Given the description of an element on the screen output the (x, y) to click on. 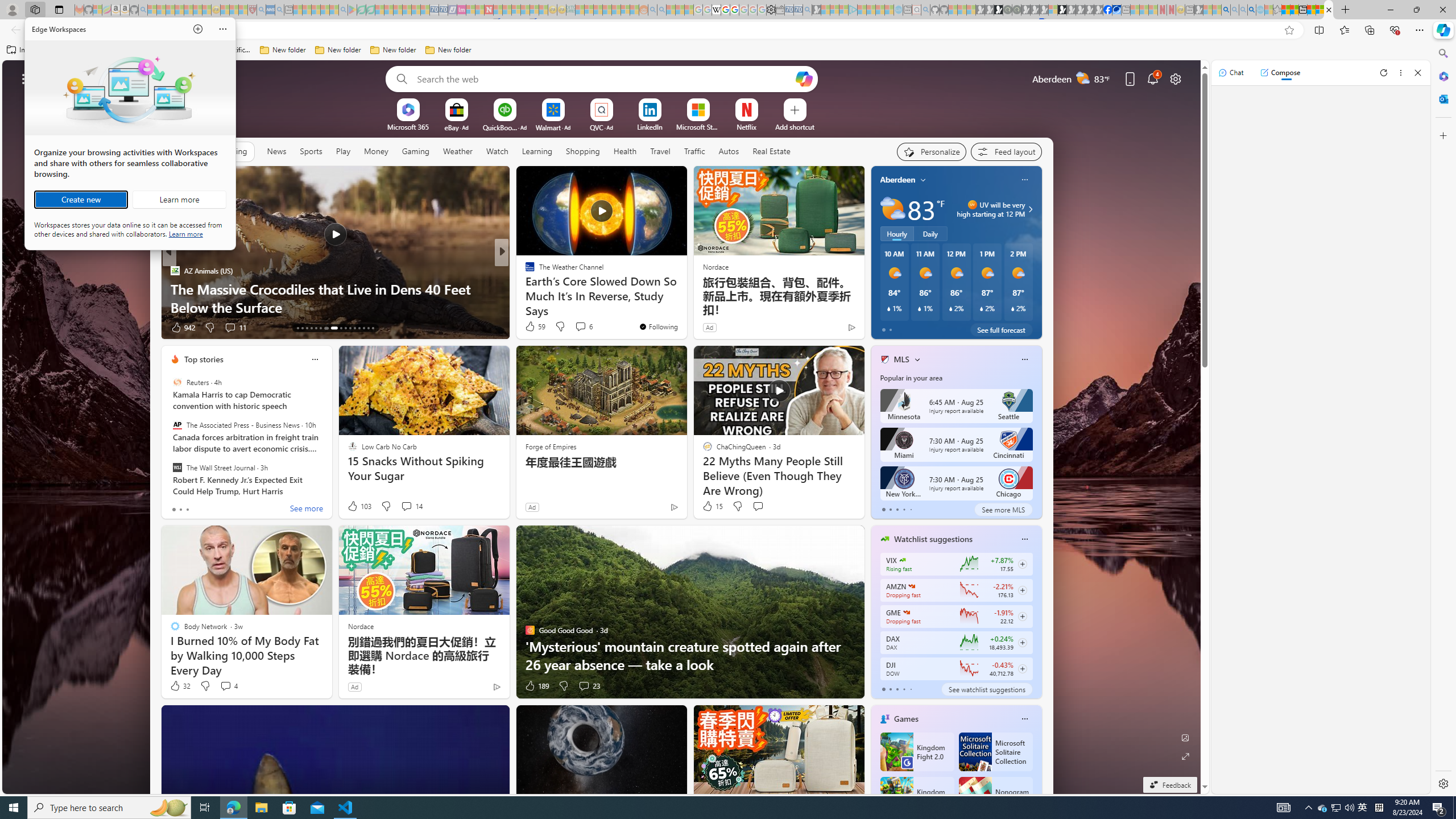
Edit Background (1185, 737)
Kingdom Fight (916, 796)
File Explorer (261, 807)
AutomationID: tab-23 (349, 328)
35 Like (530, 327)
Latest Politics News & Archive | Newsweek.com - Sleeping (488, 9)
Google Chrome Internet Browser Download - Search Images (1251, 9)
